Given the description of an element on the screen output the (x, y) to click on. 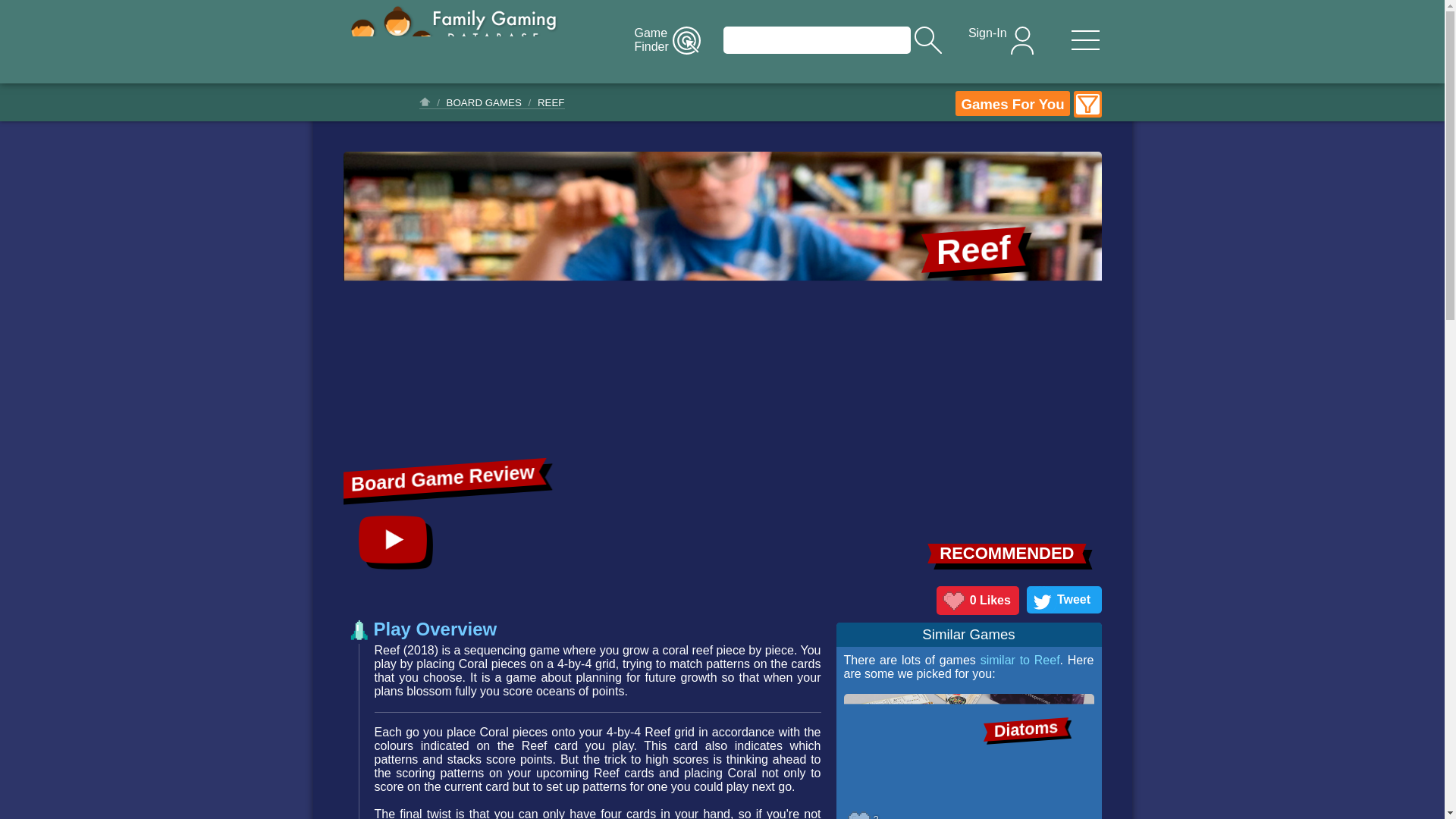
Search (817, 40)
Sign-In (998, 40)
BOARD GAMES (483, 102)
Games For You (1011, 103)
